Given the description of an element on the screen output the (x, y) to click on. 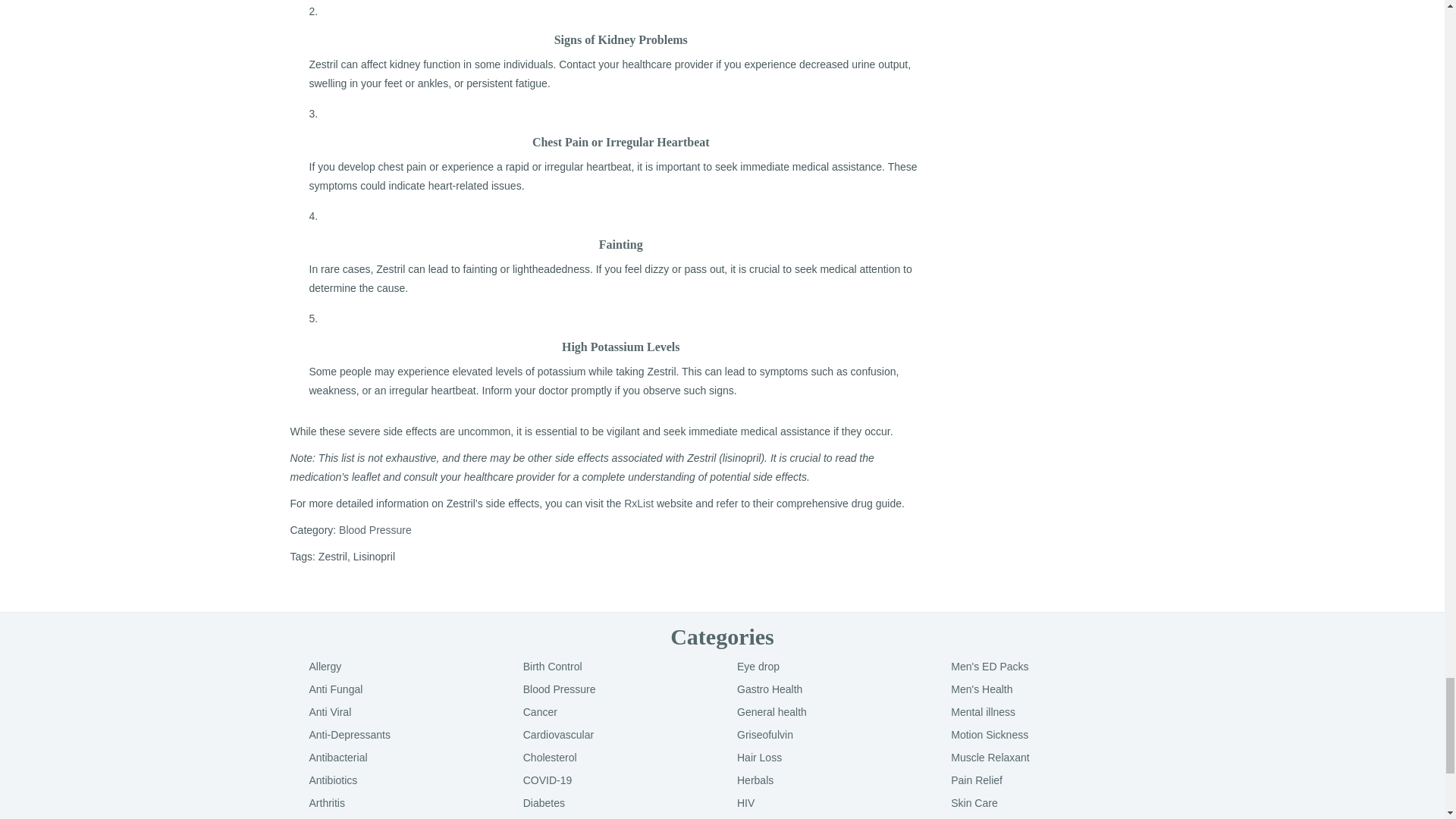
Allergy (325, 666)
Blood Pressure (375, 530)
Arthritis (326, 802)
Anti-Depressants (349, 734)
Antibacterial (338, 757)
RxList (638, 503)
Anti Viral (330, 711)
Antibiotics (333, 779)
Anti Fungal (335, 689)
